Given the description of an element on the screen output the (x, y) to click on. 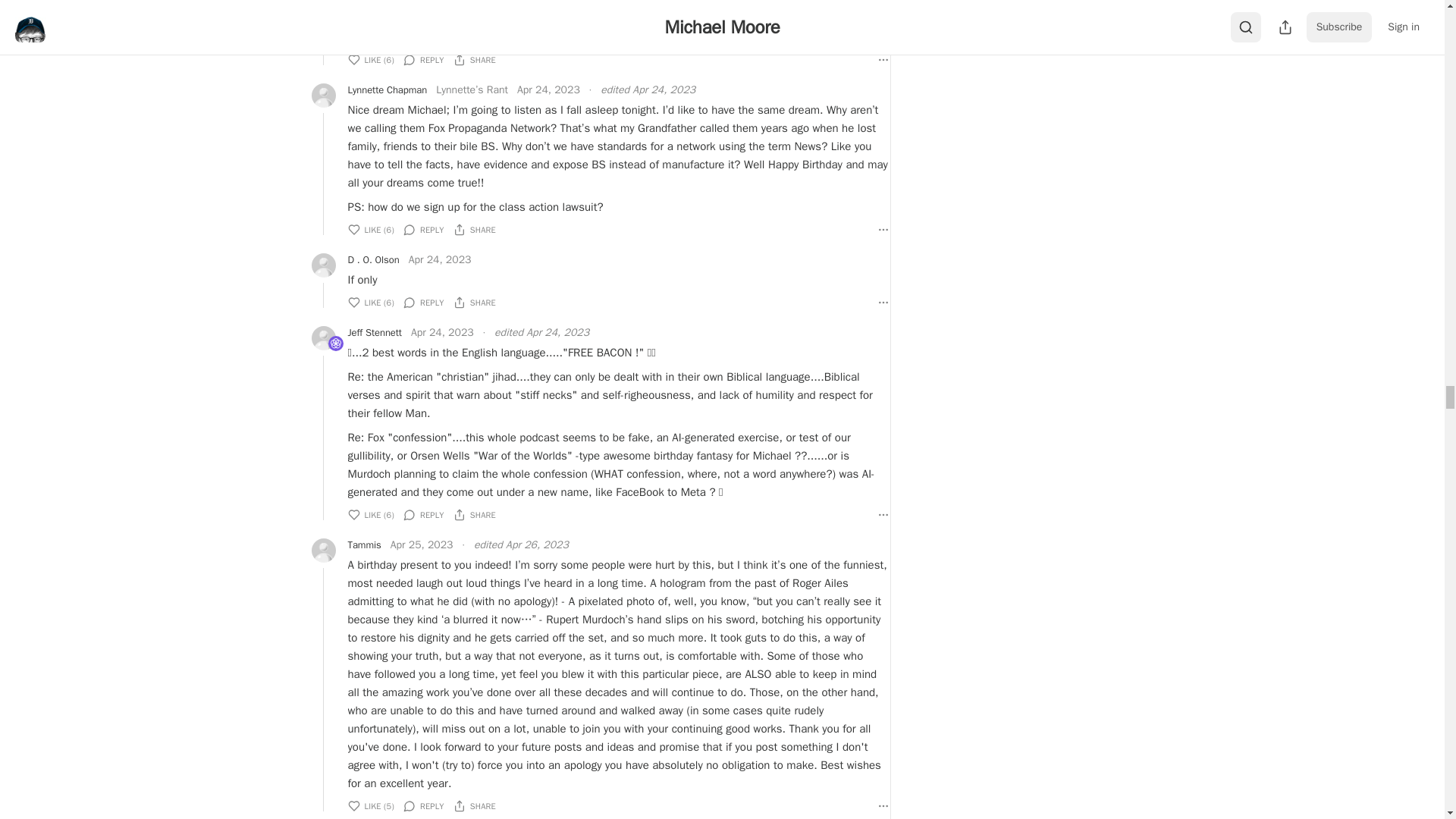
Uranium Enrichment Plan (335, 343)
Uranium Enrichment Plan (334, 343)
